Given the description of an element on the screen output the (x, y) to click on. 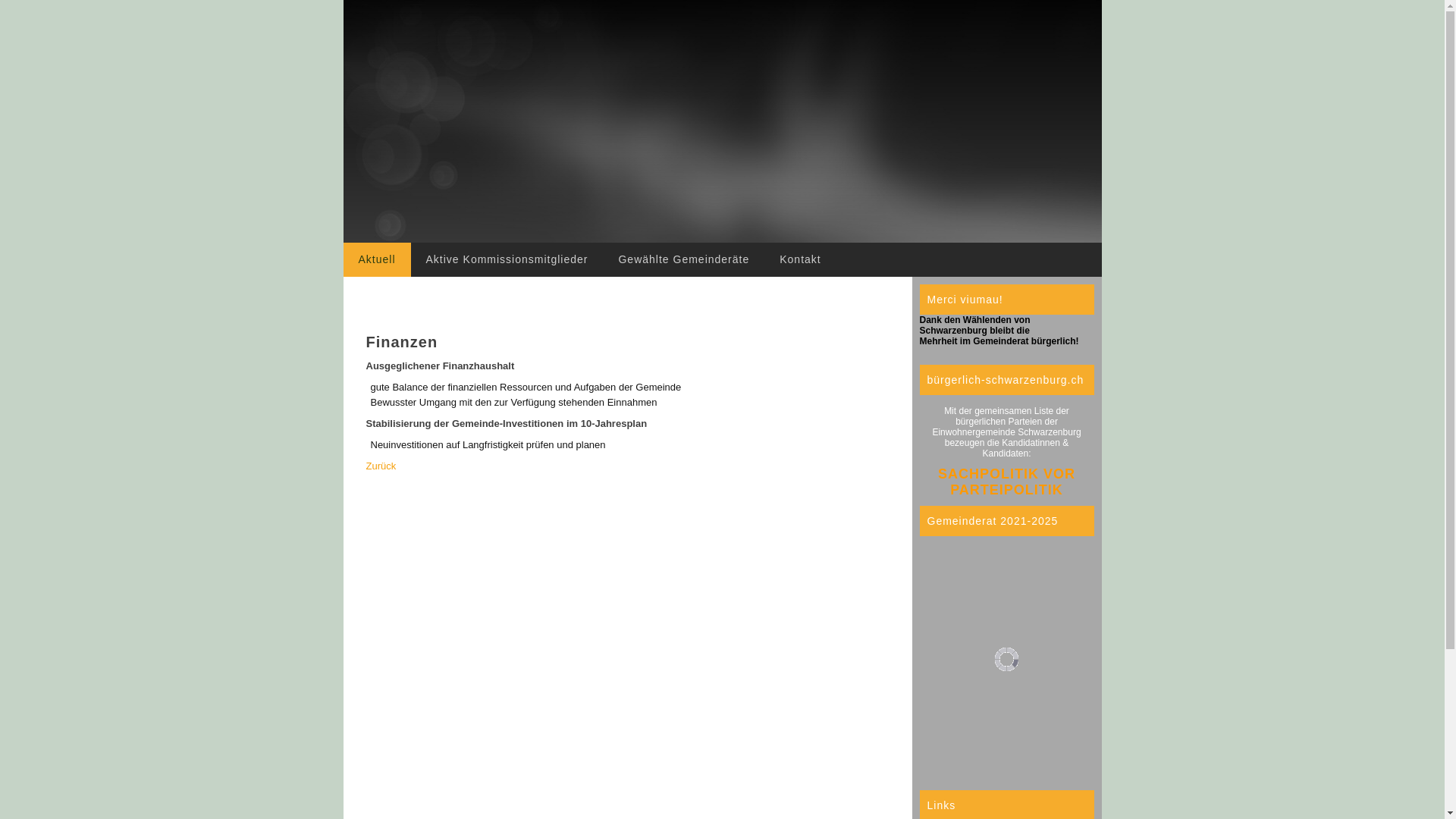
Aktuell Element type: text (376, 259)
Aktive Kommissionsmitglieder Element type: text (507, 259)
Finanzen Element type: text (401, 341)
Kontakt Element type: text (799, 259)
